Given the description of an element on the screen output the (x, y) to click on. 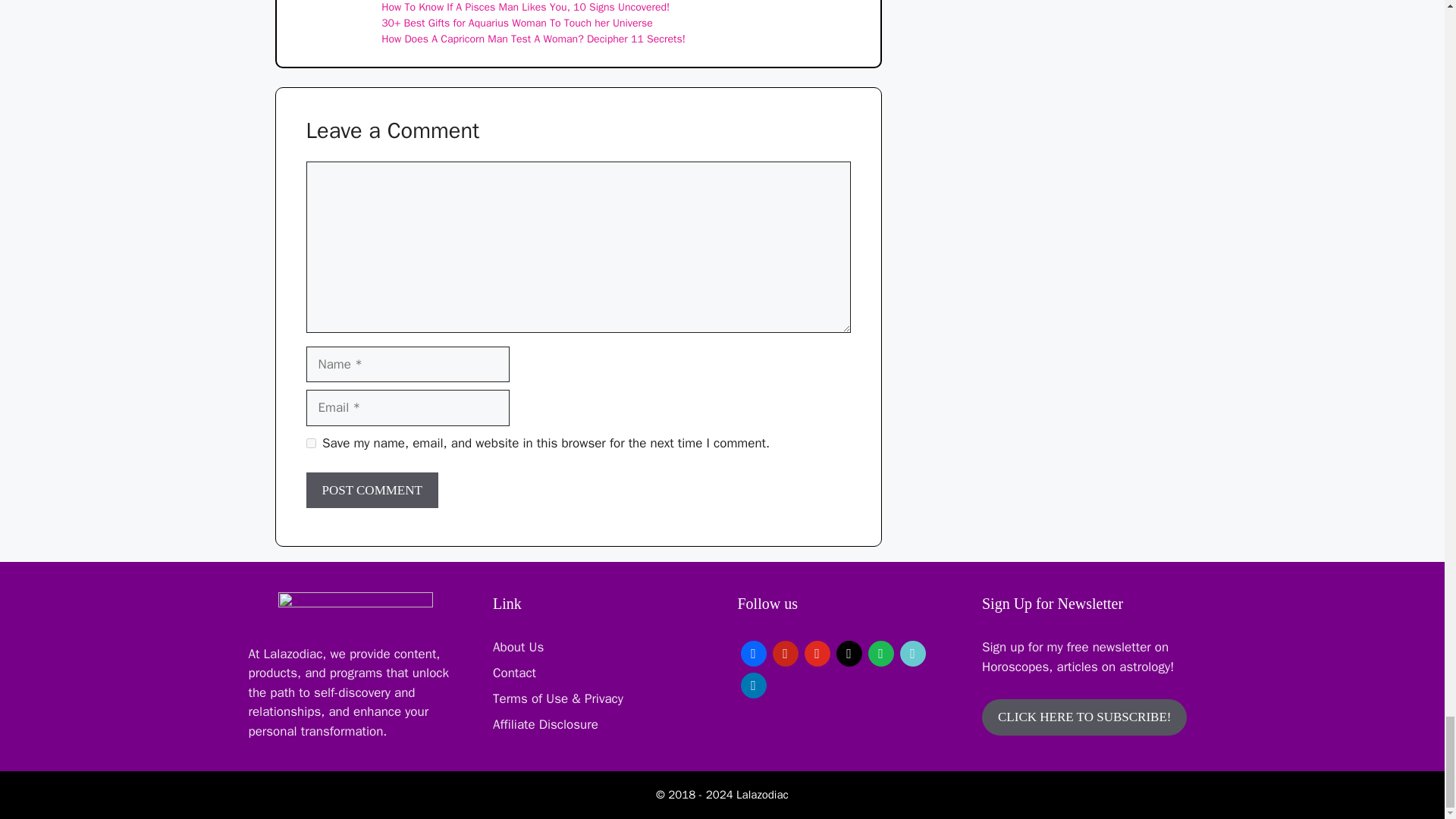
How To Know If A Pisces Man Likes You, 10 Signs Uncovered! (525, 6)
How Does A Capricorn Man Test A Woman? Decipher 11 Secrets! (533, 38)
Post Comment (371, 490)
yes (310, 442)
